Given the description of an element on the screen output the (x, y) to click on. 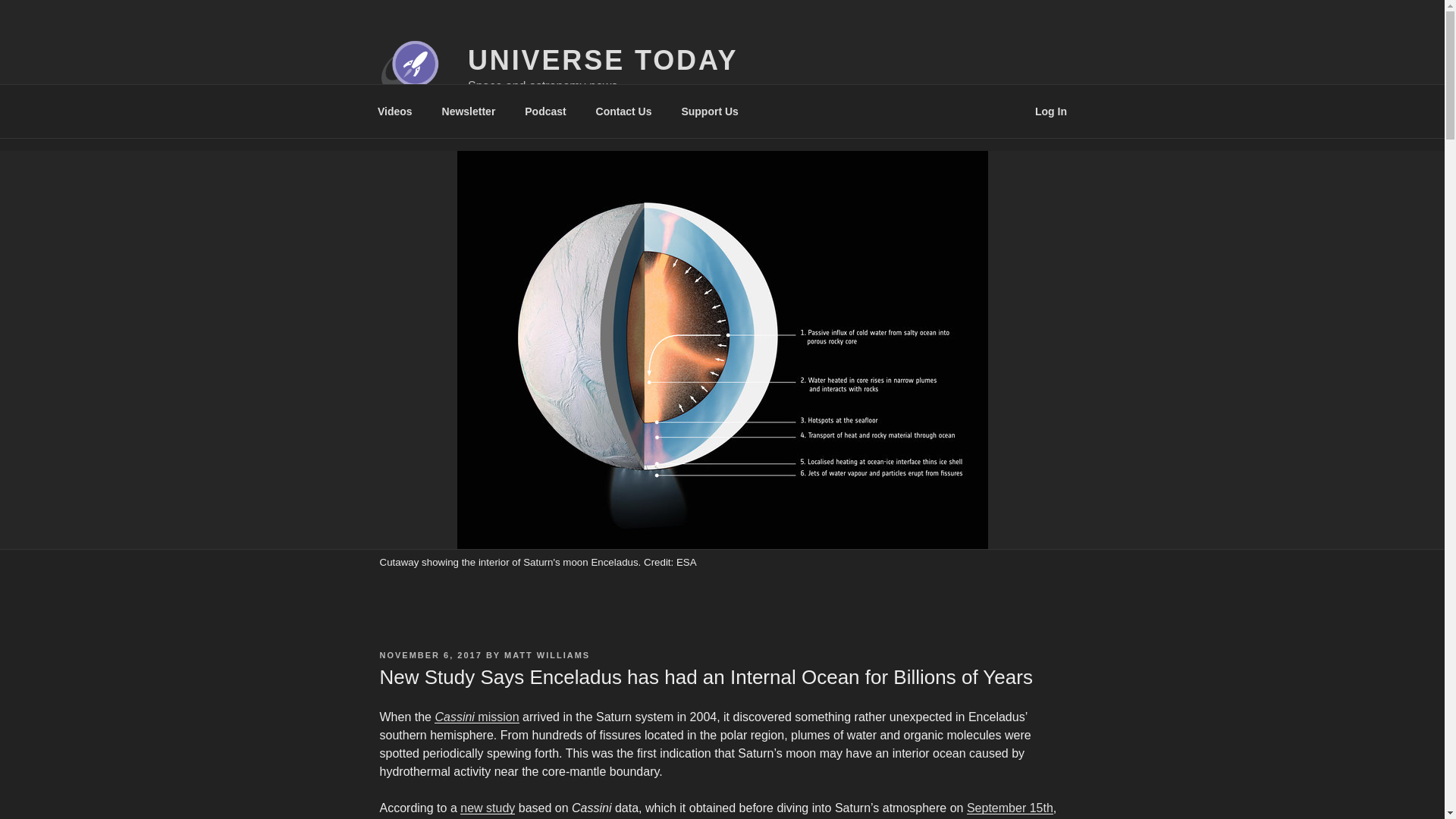
Cassini mission (475, 716)
MATT WILLIAMS (546, 655)
Videos (394, 110)
Newsletter (468, 110)
new study (487, 807)
UNIVERSE TODAY (602, 60)
September 15th (1009, 807)
NOVEMBER 6, 2017 (429, 655)
Log In (1051, 110)
Contact Us (623, 110)
